Given the description of an element on the screen output the (x, y) to click on. 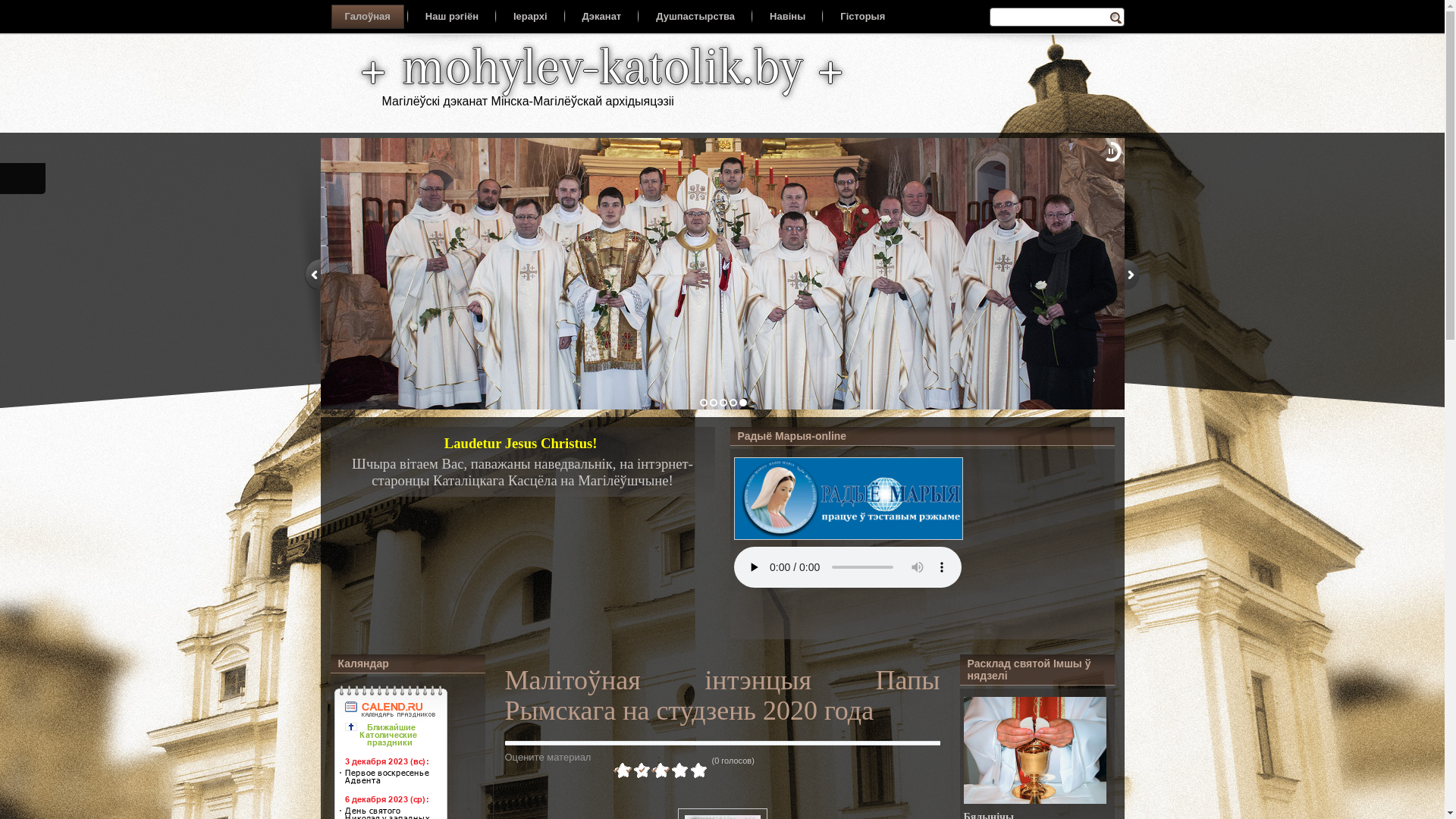
2 Element type: text (632, 770)
4 Element type: text (651, 770)
3 Element type: text (641, 770)
5 Element type: text (660, 770)
+ mohylev-katolik.by + Element type: text (601, 65)
1 Element type: text (622, 770)
